Given the description of an element on the screen output the (x, y) to click on. 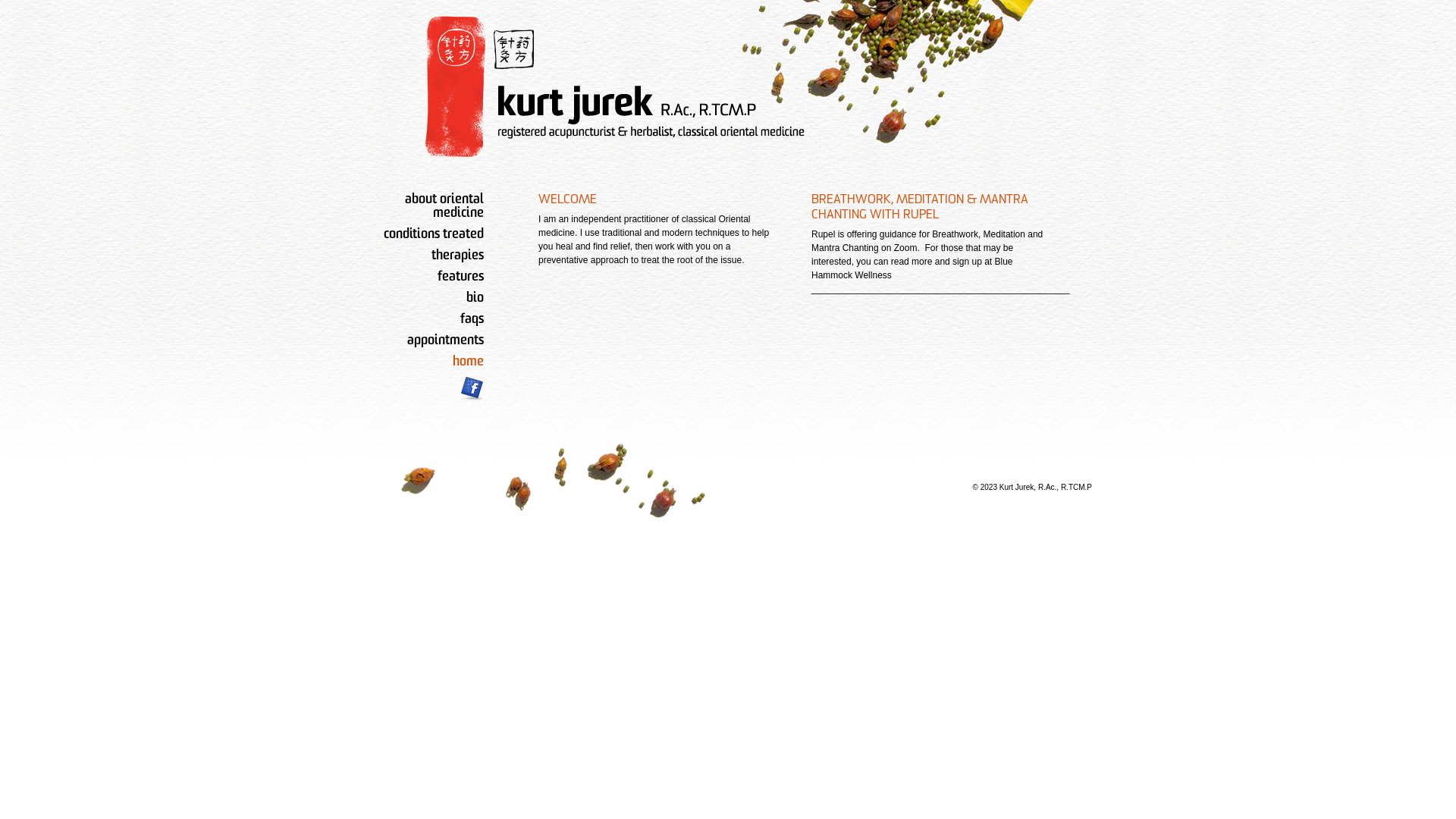
appointments Element type: text (445, 340)
faqs Element type: text (471, 319)
conditions treated Element type: text (433, 234)
therapies Element type: text (457, 255)
features Element type: text (460, 276)
about oriental medicine Element type: text (443, 206)
home Element type: text (467, 361)
bio Element type: text (474, 298)
